Given the description of an element on the screen output the (x, y) to click on. 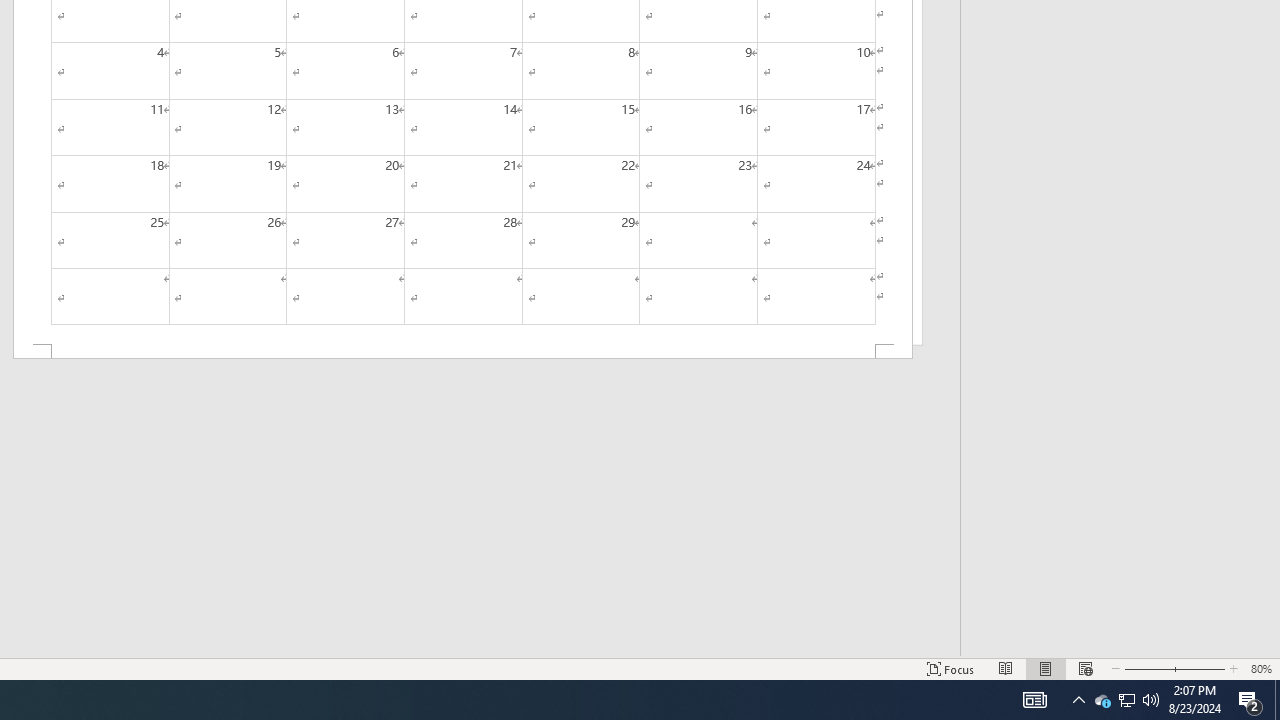
Footer -Section 2- (462, 351)
Zoom In (1195, 668)
Read Mode (1005, 668)
Zoom Out (1143, 668)
Print Layout (1046, 668)
Web Layout (1085, 668)
Focus  (951, 668)
